Given the description of an element on the screen output the (x, y) to click on. 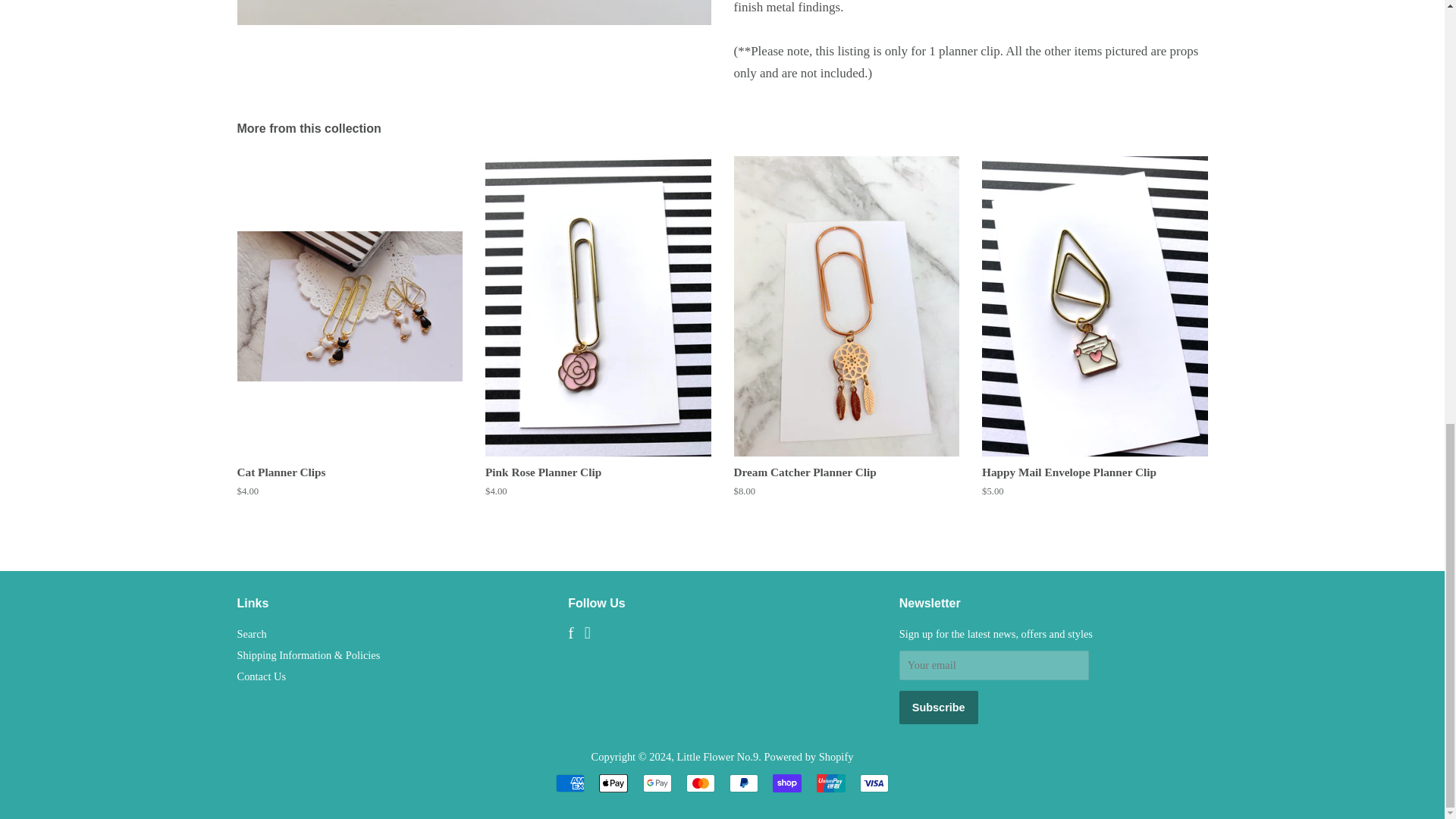
Union Pay (830, 782)
Google Pay (657, 782)
Shop Pay (787, 782)
PayPal (743, 782)
Apple Pay (612, 782)
Mastercard (699, 782)
Visa (874, 782)
Subscribe (938, 707)
American Express (570, 782)
